Given the description of an element on the screen output the (x, y) to click on. 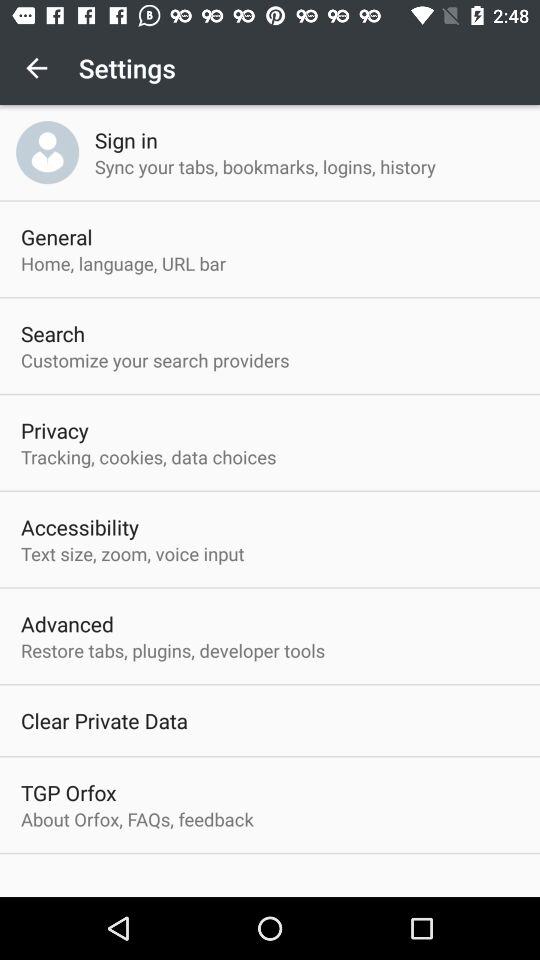
tap icon below the sign in icon (264, 166)
